Given the description of an element on the screen output the (x, y) to click on. 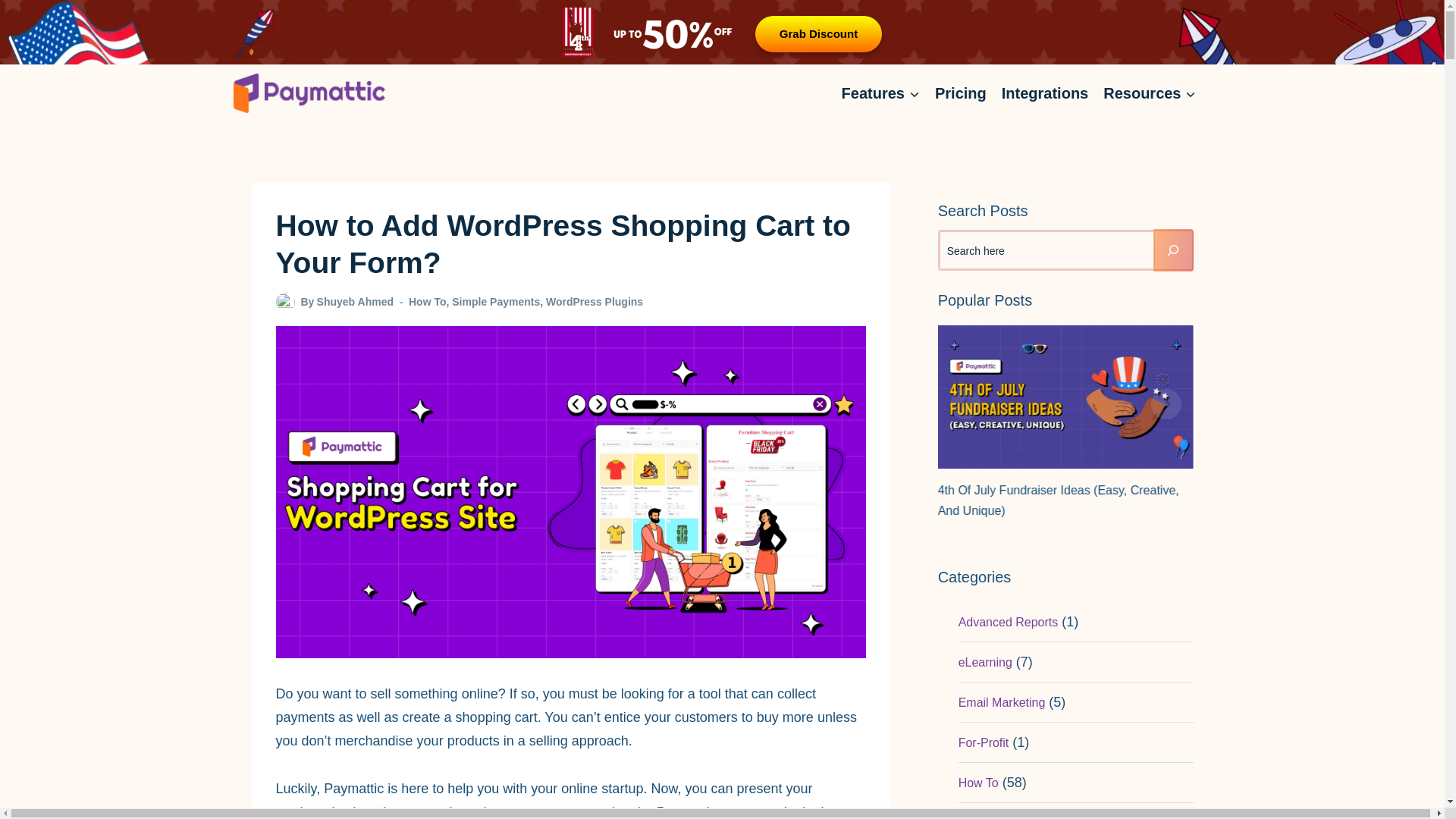
Simple Payments (495, 301)
Features (880, 92)
Resources (1150, 92)
Pricing (960, 92)
Shuyeb Ahmed (355, 301)
How To (427, 301)
Grab Discount (818, 33)
WordPress Plugins (594, 301)
Integrations (1045, 92)
